Given the description of an element on the screen output the (x, y) to click on. 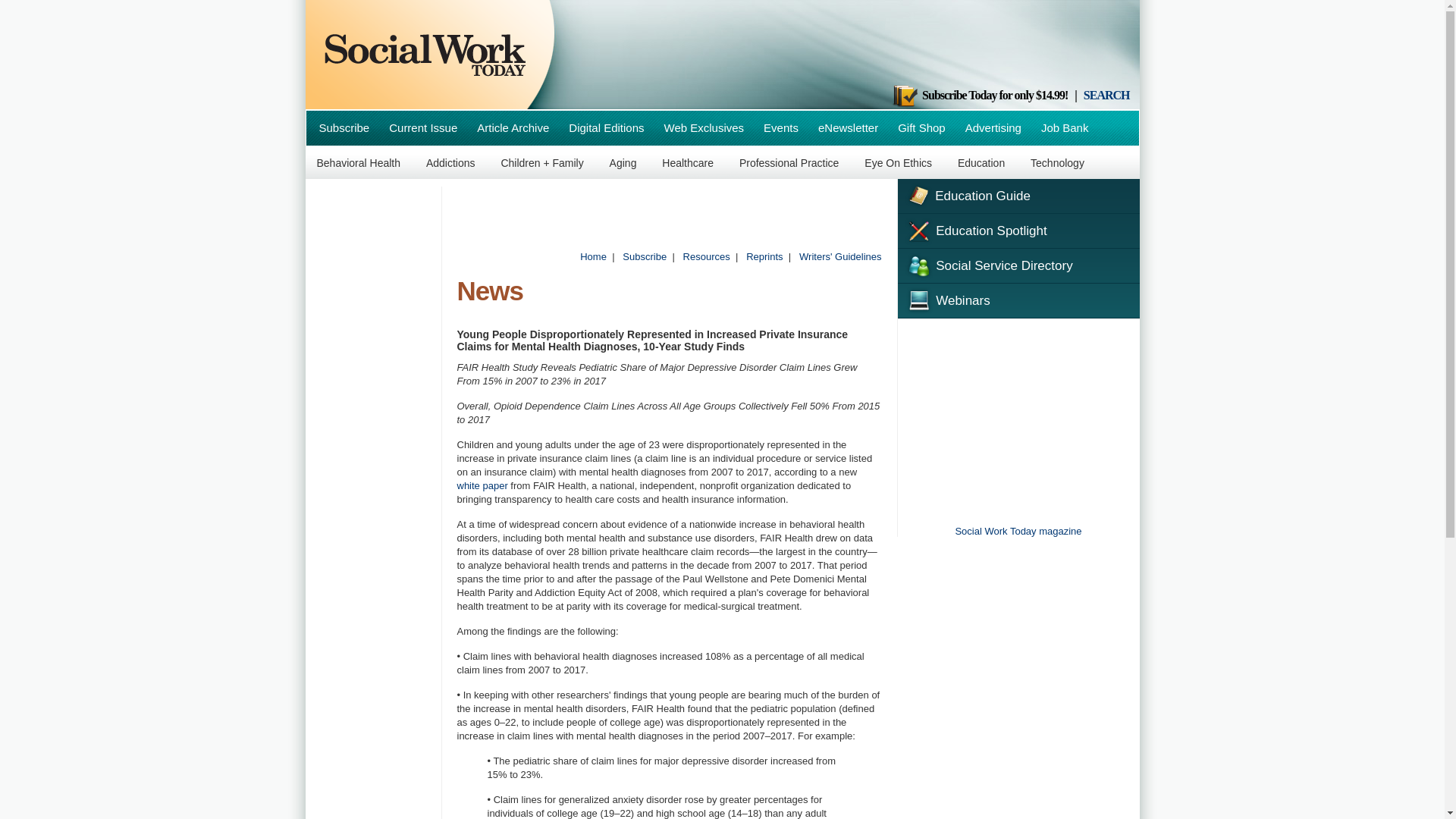
white paper (481, 485)
Subscribe (644, 256)
Job Bank (1064, 127)
Reprints (764, 256)
eNewsletter (848, 127)
3rd party ad content (853, 45)
Digital Editions (606, 127)
SEARCH (1106, 94)
Writers' Guidelines (839, 256)
3rd party ad content (1018, 420)
